Given the description of an element on the screen output the (x, y) to click on. 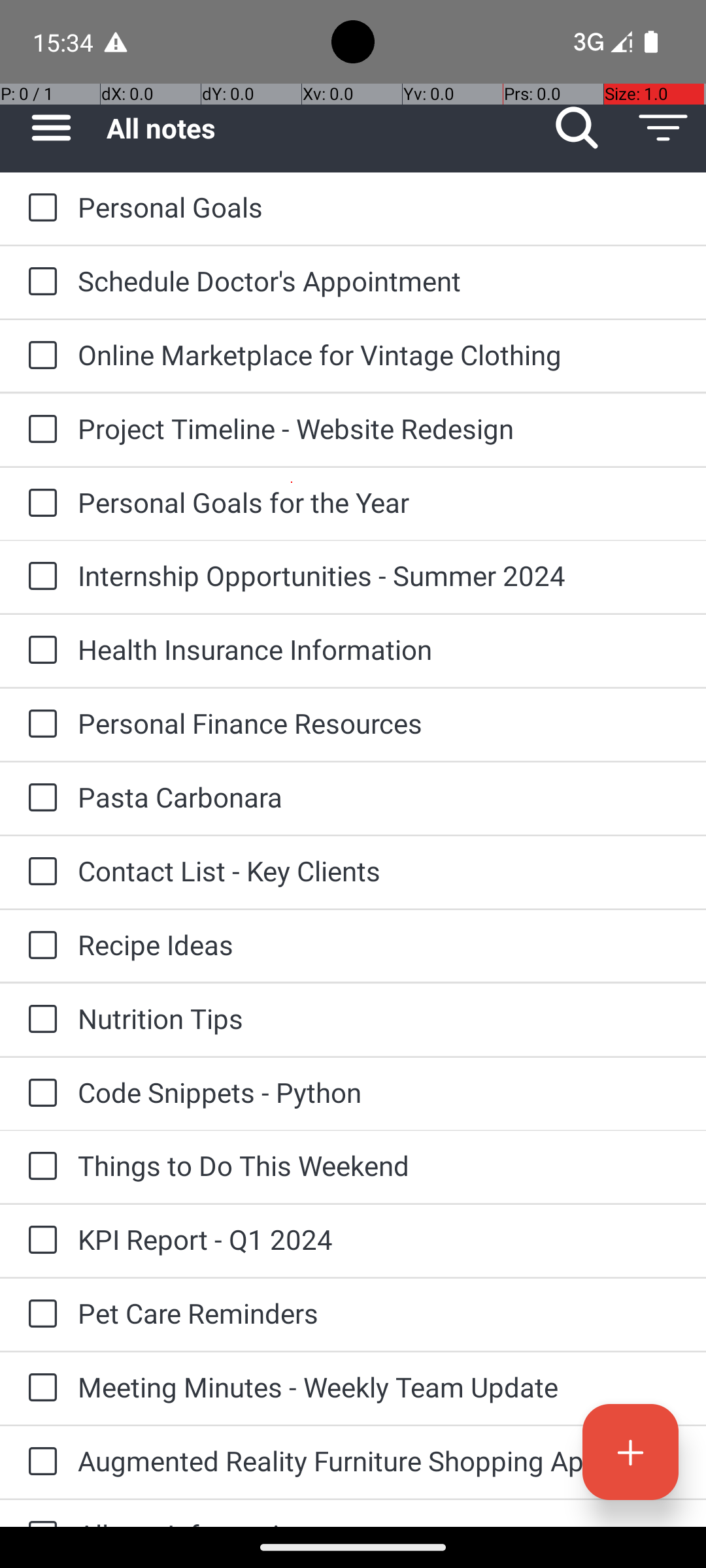
to-do: Personal Goals Element type: android.widget.CheckBox (38, 208)
Personal Goals Element type: android.widget.TextView (378, 206)
to-do: Schedule Doctor's Appointment Element type: android.widget.CheckBox (38, 282)
Schedule Doctor's Appointment Element type: android.widget.TextView (378, 280)
to-do: Online Marketplace for Vintage Clothing Element type: android.widget.CheckBox (38, 356)
Online Marketplace for Vintage Clothing Element type: android.widget.TextView (378, 354)
to-do: Project Timeline - Website Redesign Element type: android.widget.CheckBox (38, 429)
Project Timeline - Website Redesign Element type: android.widget.TextView (378, 427)
to-do: Personal Goals for the Year Element type: android.widget.CheckBox (38, 503)
Personal Goals for the Year Element type: android.widget.TextView (378, 501)
to-do: Internship Opportunities - Summer 2024 Element type: android.widget.CheckBox (38, 576)
Internship Opportunities - Summer 2024 Element type: android.widget.TextView (378, 574)
to-do: Health Insurance Information Element type: android.widget.CheckBox (38, 650)
Health Insurance Information Element type: android.widget.TextView (378, 648)
to-do: Personal Finance Resources Element type: android.widget.CheckBox (38, 724)
Personal Finance Resources Element type: android.widget.TextView (378, 722)
to-do: Pasta Carbonara Element type: android.widget.CheckBox (38, 798)
Pasta Carbonara Element type: android.widget.TextView (378, 796)
to-do: Contact List - Key Clients Element type: android.widget.CheckBox (38, 872)
Contact List - Key Clients Element type: android.widget.TextView (378, 870)
to-do: Recipe Ideas Element type: android.widget.CheckBox (38, 945)
Recipe Ideas Element type: android.widget.TextView (378, 944)
to-do: Nutrition Tips Element type: android.widget.CheckBox (38, 1019)
Nutrition Tips Element type: android.widget.TextView (378, 1017)
to-do: Things to Do This Weekend Element type: android.widget.CheckBox (38, 1166)
Things to Do This Weekend Element type: android.widget.TextView (378, 1164)
to-do: KPI Report - Q1 2024 Element type: android.widget.CheckBox (38, 1240)
KPI Report - Q1 2024 Element type: android.widget.TextView (378, 1238)
to-do: Pet Care Reminders Element type: android.widget.CheckBox (38, 1314)
Pet Care Reminders Element type: android.widget.TextView (378, 1312)
to-do: Meeting Minutes - Weekly Team Update Element type: android.widget.CheckBox (38, 1388)
Meeting Minutes - Weekly Team Update Element type: android.widget.TextView (378, 1386)
to-do: Augmented Reality Furniture Shopping App Element type: android.widget.CheckBox (38, 1462)
Augmented Reality Furniture Shopping App Element type: android.widget.TextView (378, 1460)
to-do: Allergy Information Element type: android.widget.CheckBox (38, 1513)
Allergy Information Element type: android.widget.TextView (378, 1520)
